Given the description of an element on the screen output the (x, y) to click on. 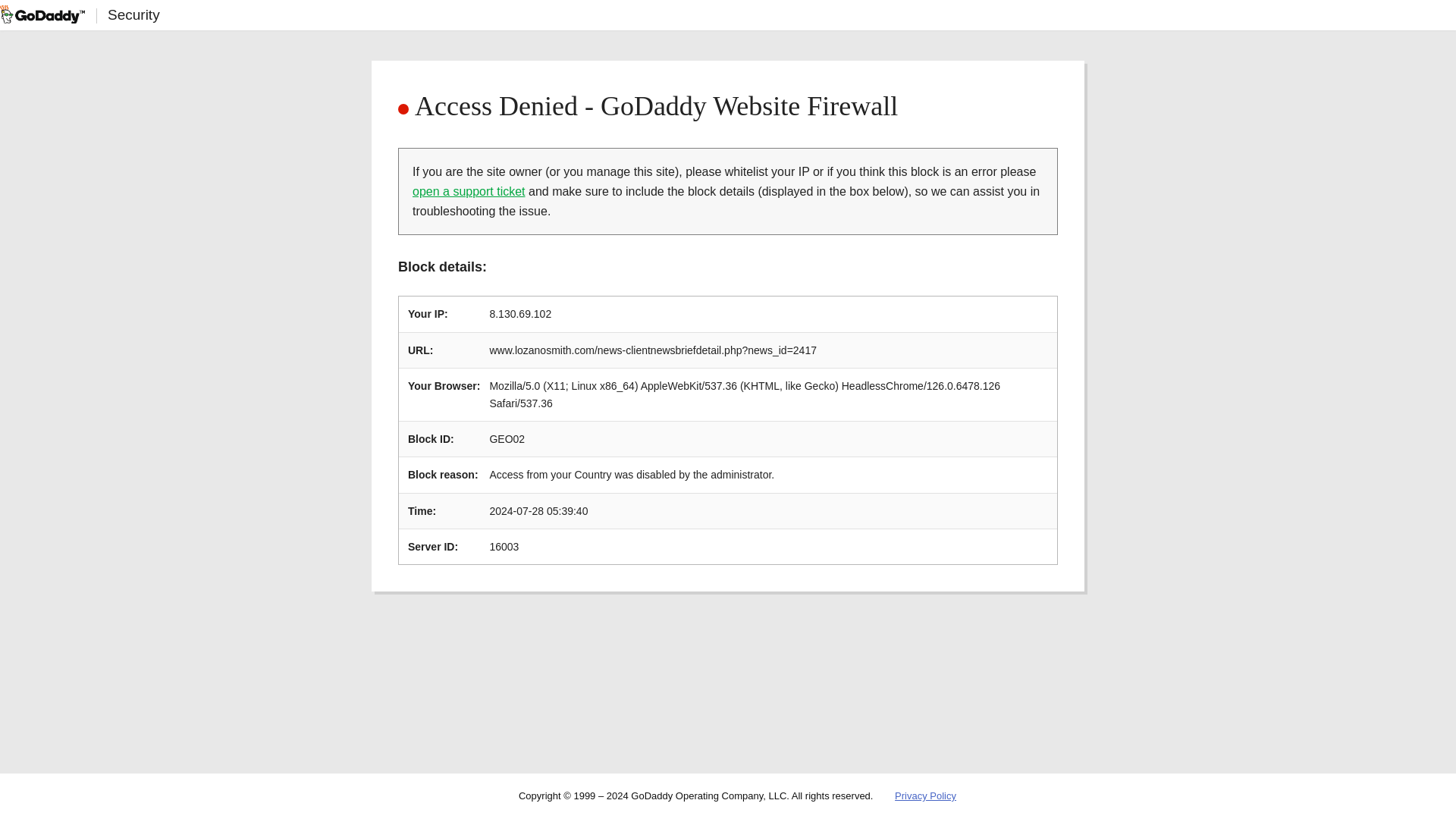
Privacy Policy (925, 795)
open a support ticket (468, 191)
